Given the description of an element on the screen output the (x, y) to click on. 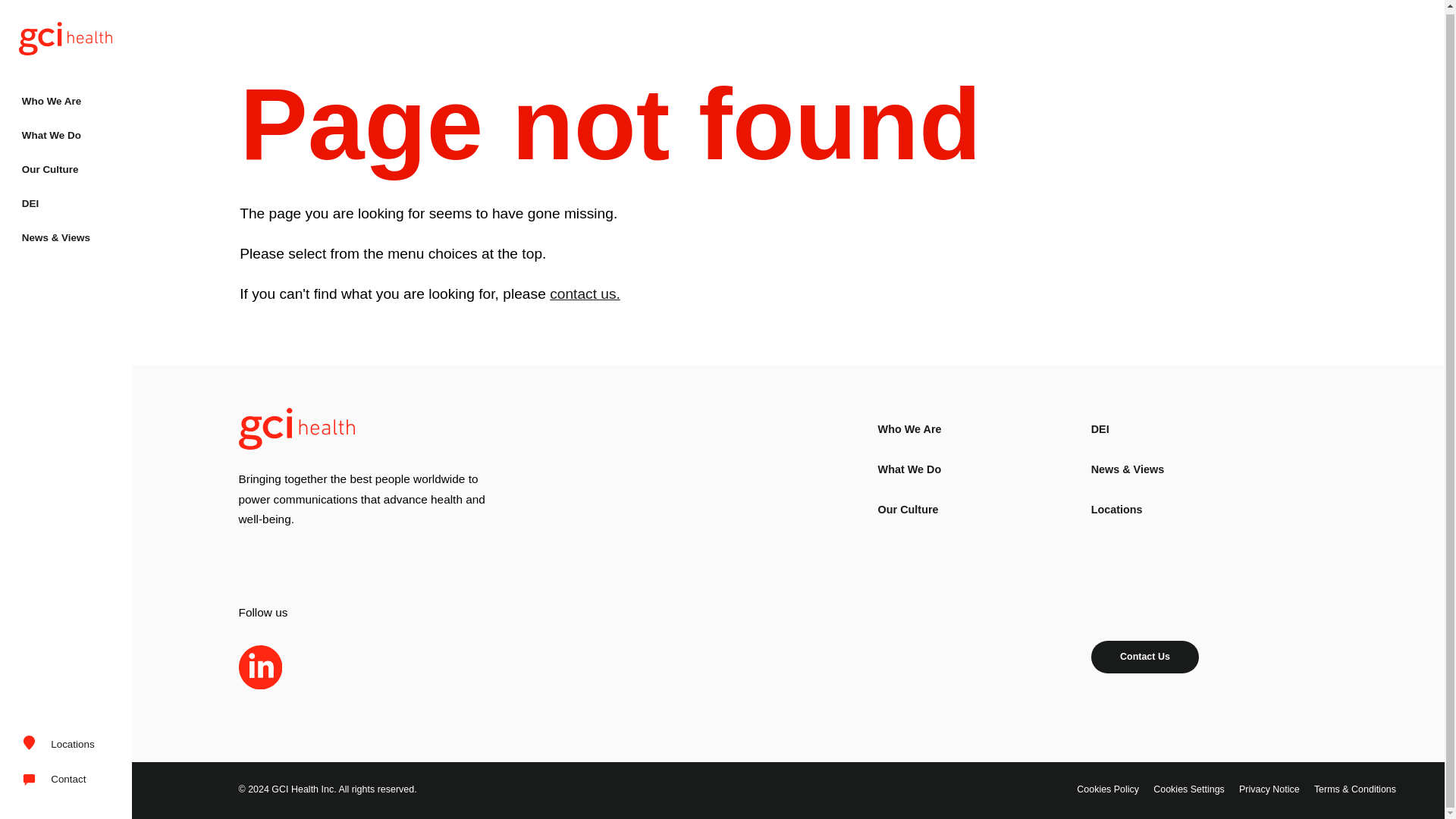
Our Culture (908, 509)
Contact Us (1144, 656)
Cookies Settings (1188, 788)
Who We Are (66, 97)
What We Do (66, 132)
contact us. (585, 293)
Cookies Policy (1107, 788)
Locations (58, 742)
Our Culture (66, 165)
Follow us on Facebook (369, 667)
Follow us on Linkedin (260, 667)
What We Do (909, 469)
DEI (66, 200)
DEI (1099, 428)
Contact (58, 776)
